Given the description of an element on the screen output the (x, y) to click on. 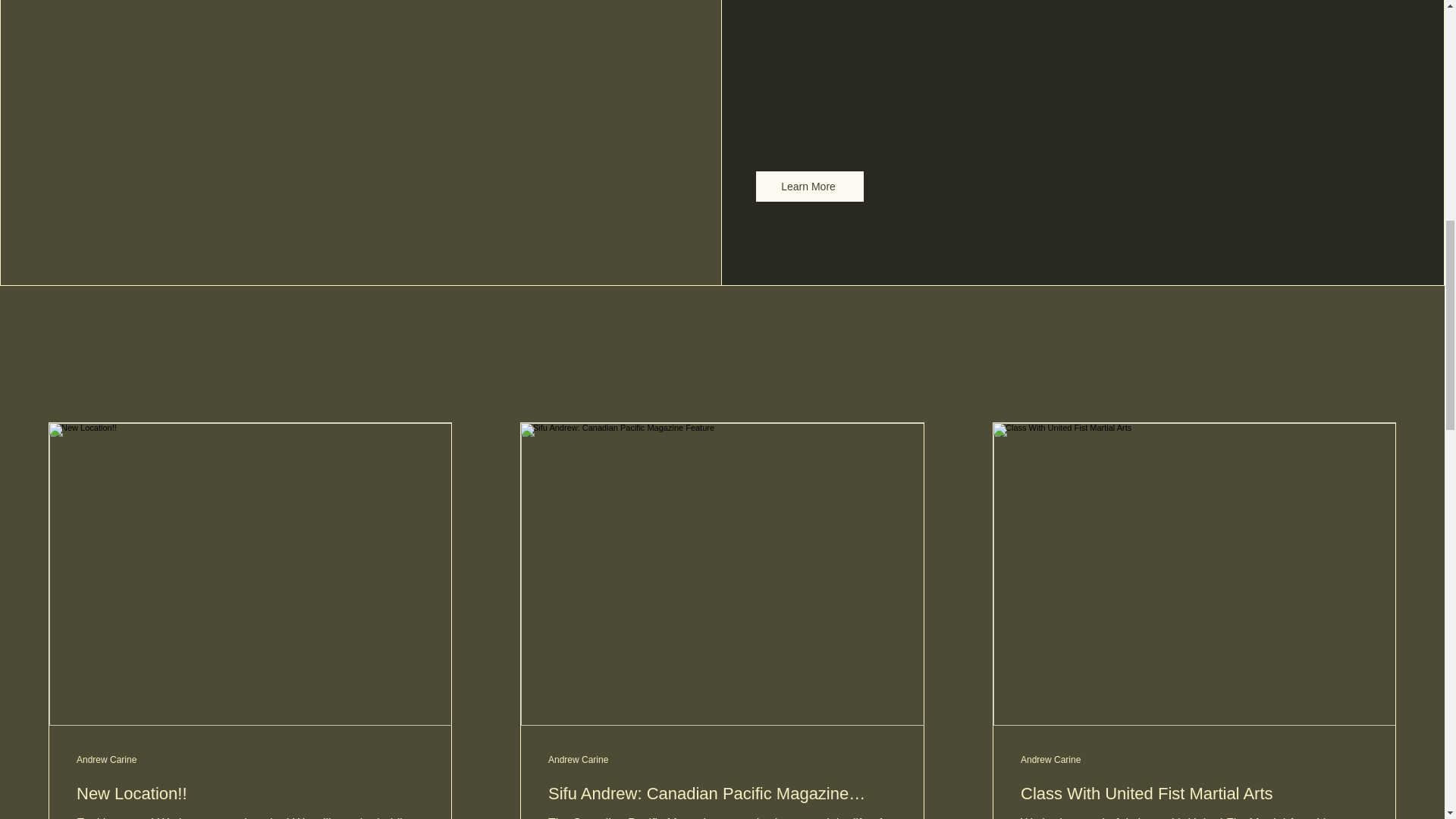
Learn More (809, 186)
Andrew Carine (578, 759)
Andrew Carine (106, 759)
Class With United Fist Martial Arts (1194, 793)
Sifu Andrew: Canadian Pacific Magazine Feature (722, 793)
New Location!! (250, 793)
Andrew Carine (106, 759)
Andrew Carine (1050, 759)
Andrew Carine (578, 759)
Andrew Carine (1050, 759)
